Given the description of an element on the screen output the (x, y) to click on. 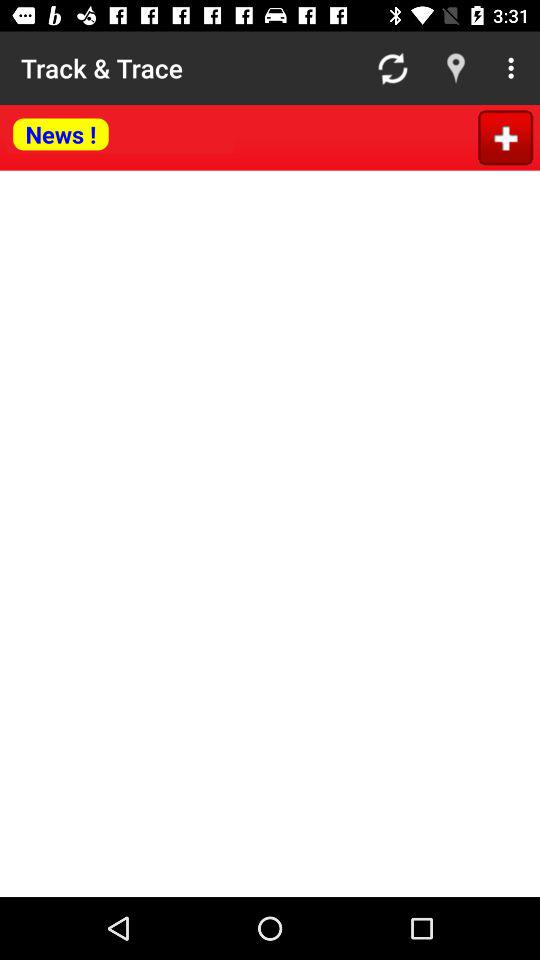
text space of information given (270, 533)
